Given the description of an element on the screen output the (x, y) to click on. 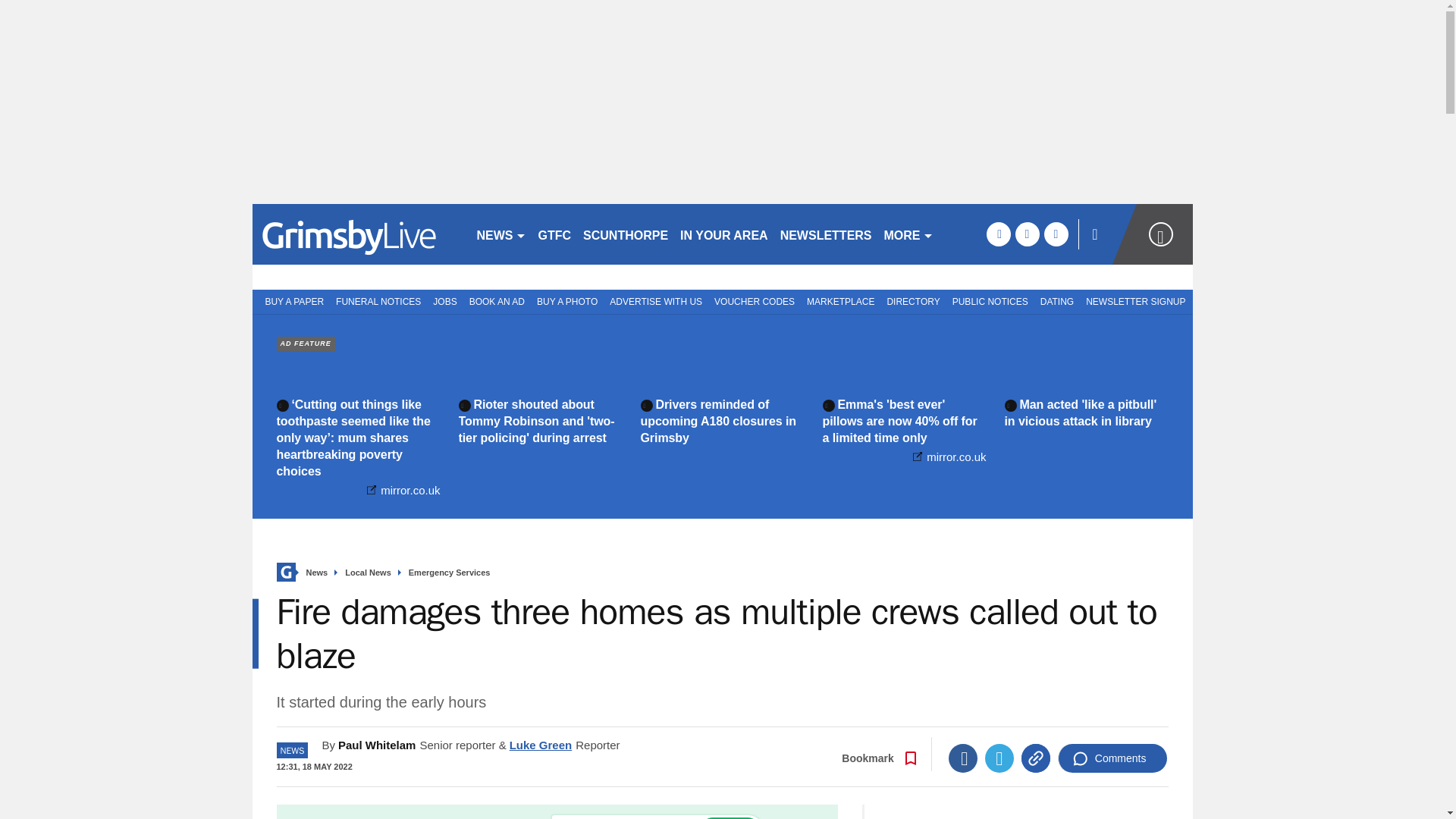
BUY A PHOTO (567, 300)
Comments (1112, 758)
NEWS (500, 233)
Facebook (962, 758)
grimsbytelegraph (357, 233)
MORE (908, 233)
ADVERTISE WITH US (655, 300)
VOUCHER CODES (753, 300)
facebook (997, 233)
BOOK AN AD (497, 300)
